Given the description of an element on the screen output the (x, y) to click on. 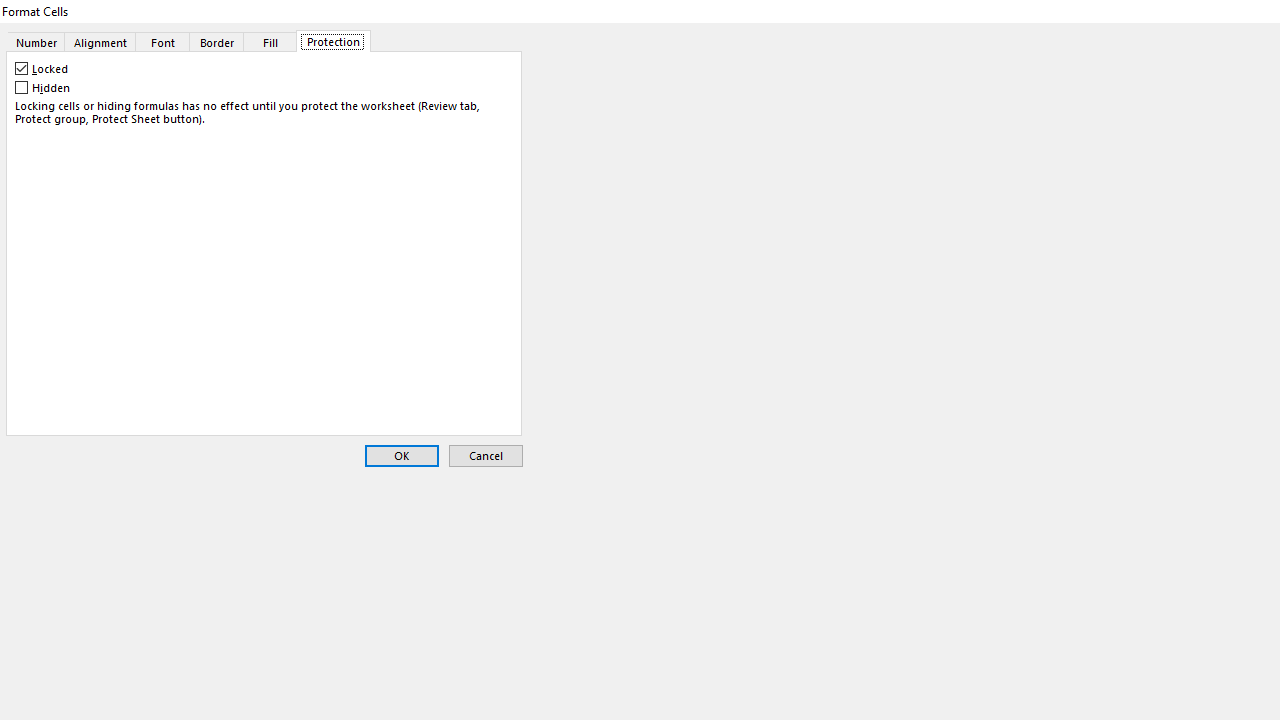
Number (35, 41)
Fill (271, 41)
Hidden (43, 87)
Font (162, 41)
OK (401, 456)
Alignment (100, 41)
Cancel (485, 456)
Border (216, 41)
Locked (42, 69)
Protection (333, 41)
